Given the description of an element on the screen output the (x, y) to click on. 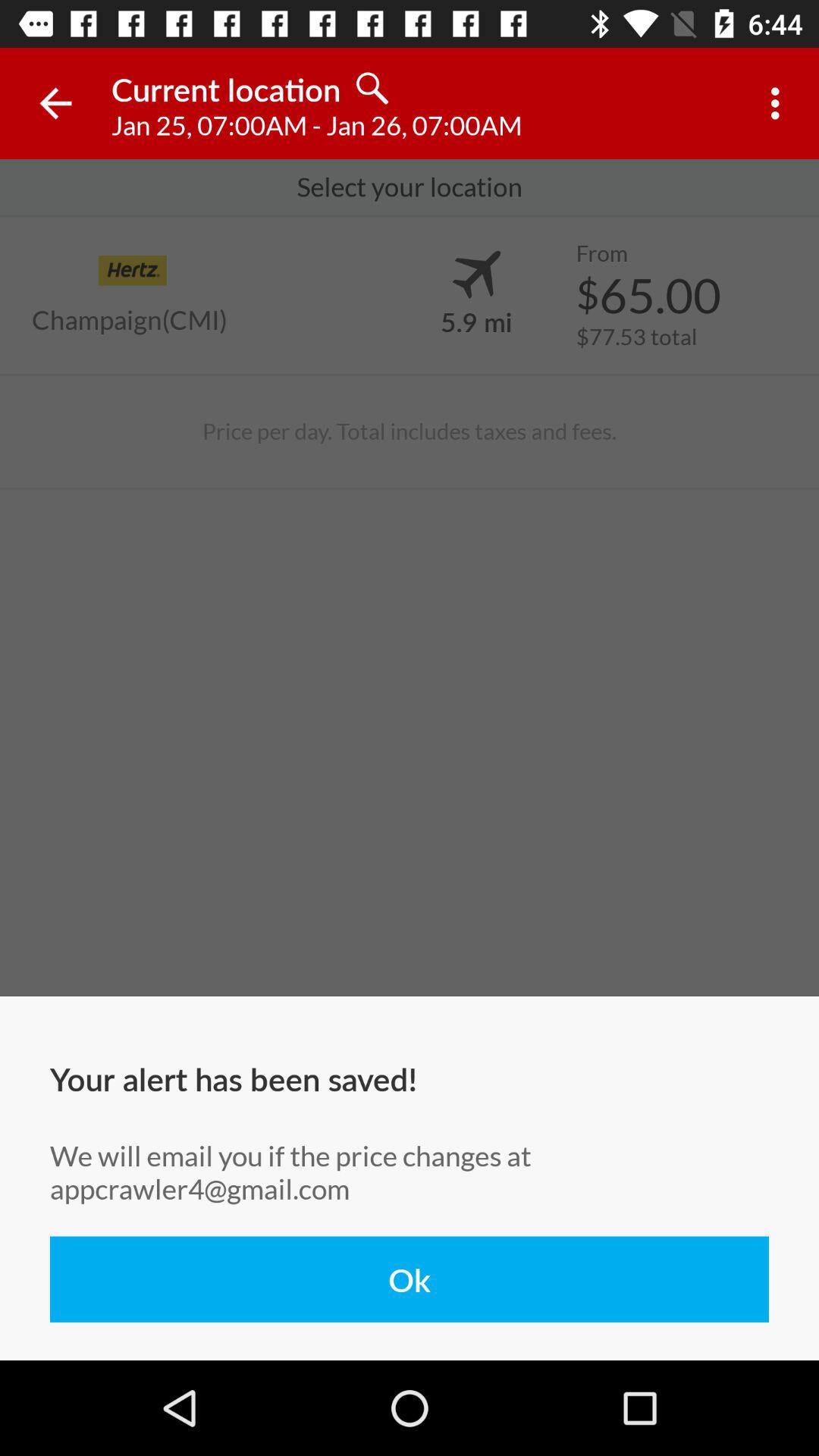
open icon above your alert has item (409, 431)
